Given the description of an element on the screen output the (x, y) to click on. 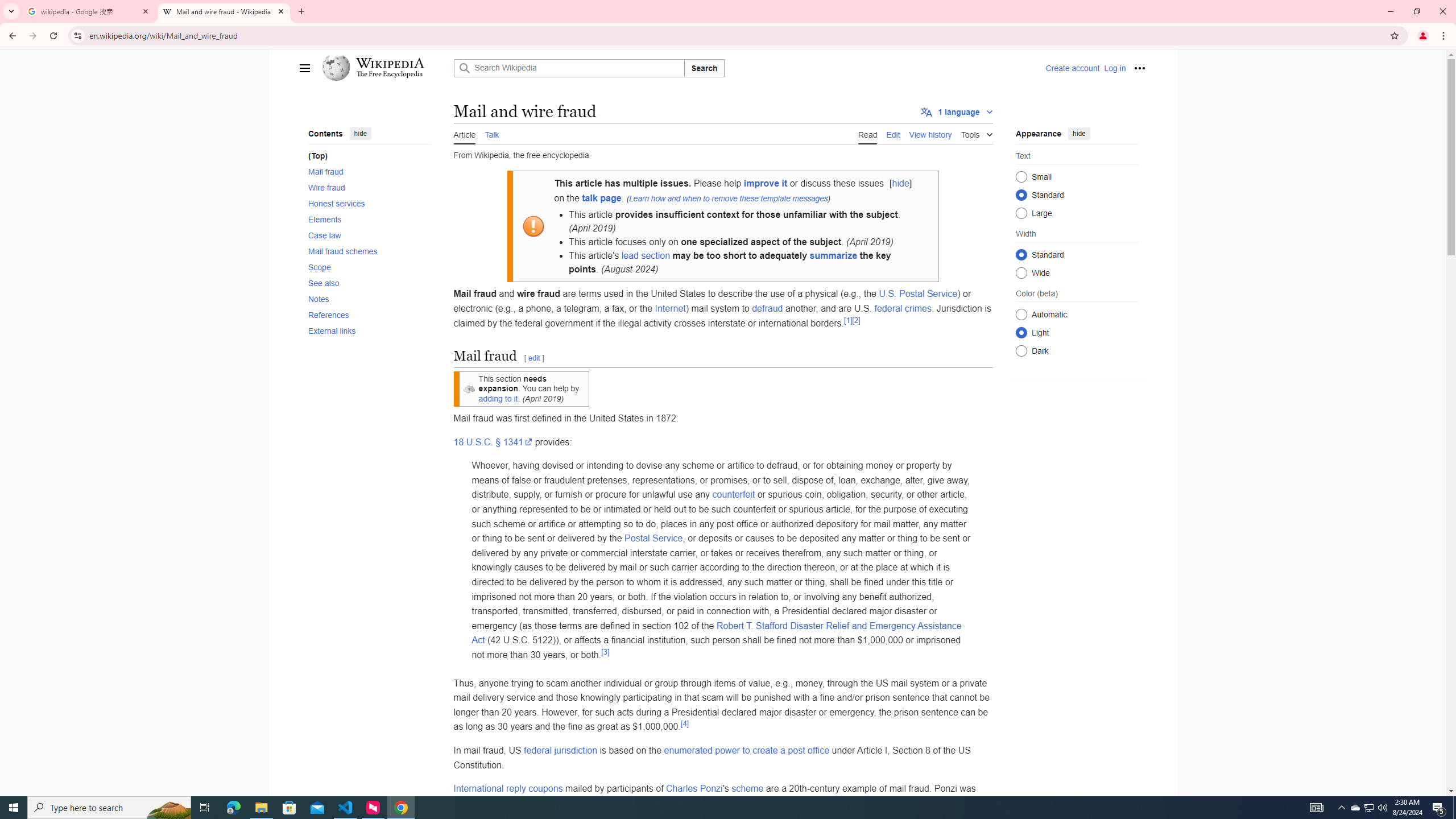
Automatic (1020, 313)
[5] (654, 800)
AutomationID: ca-edit (892, 133)
AutomationID: toc-Wire_fraud (365, 187)
Case law (368, 234)
Search Wikipedia (568, 67)
Log in (1114, 67)
Edit (892, 133)
Tools (976, 132)
References (368, 314)
